Given the description of an element on the screen output the (x, y) to click on. 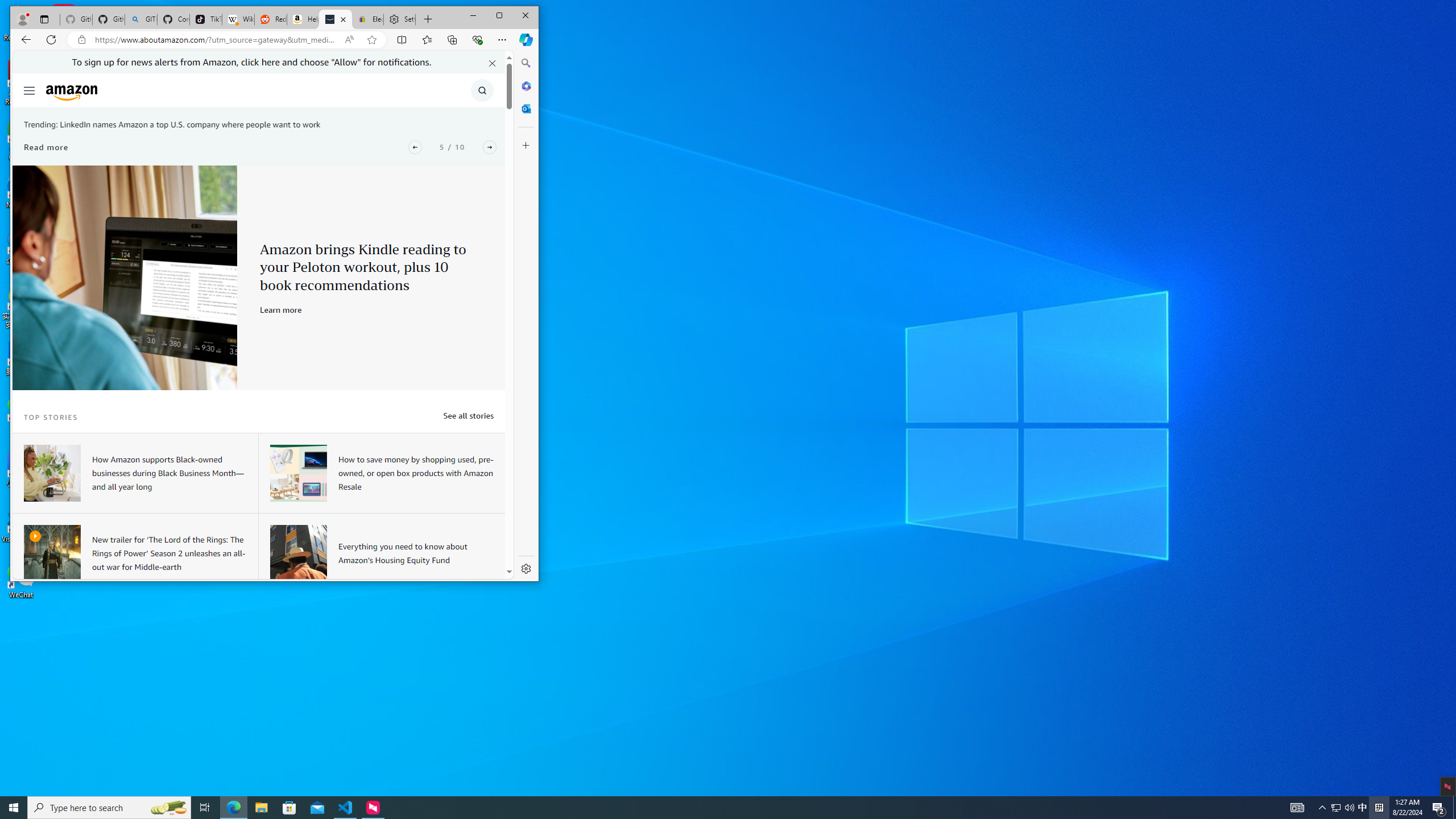
Previous (414, 146)
Visual Studio Code - 1 running window (345, 807)
Next (489, 146)
Show desktop (1454, 807)
See all stories (467, 415)
Wikipedia, the free encyclopedia (237, 19)
Maximize (499, 15)
